Given the description of an element on the screen output the (x, y) to click on. 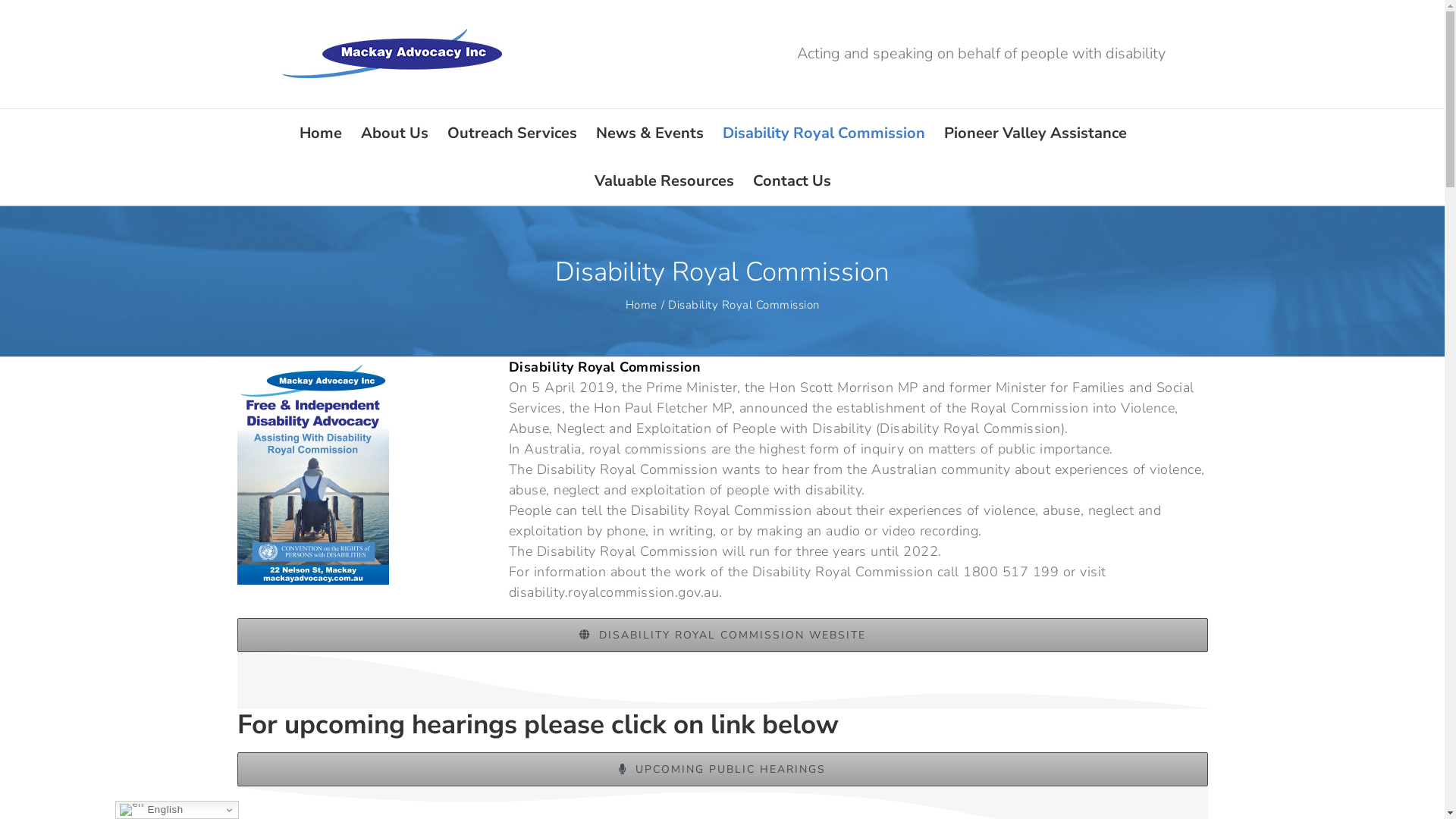
Home Element type: text (640, 304)
About Us Element type: text (394, 132)
News & Events Element type: text (649, 132)
Home Element type: text (319, 132)
Outreach Services Element type: text (512, 132)
Disability Royal Commission Element type: text (822, 132)
UPCOMING PUBLIC HEARINGS Element type: text (721, 769)
Contact Us Element type: text (792, 180)
DISABILITY ROYAL COMMISSION WEBSITE Element type: text (721, 635)
Valuable Resources Element type: text (664, 180)
Pioneer Valley Assistance Element type: text (1034, 132)
Mackay Advocacy Social Element type: hover (312, 470)
